Given the description of an element on the screen output the (x, y) to click on. 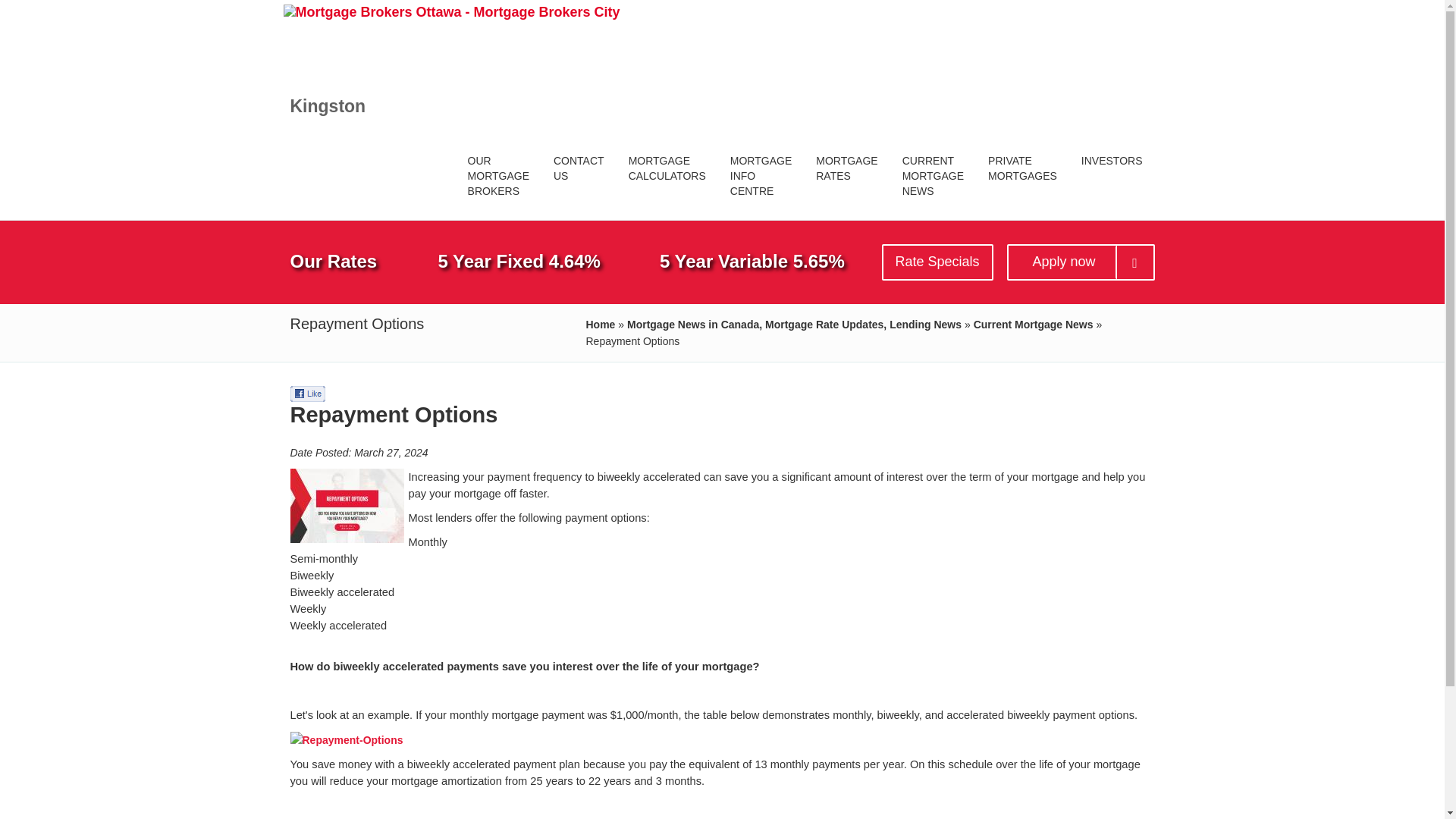
Mortgage Brokers Ottawa (1021, 166)
